Given the description of an element on the screen output the (x, y) to click on. 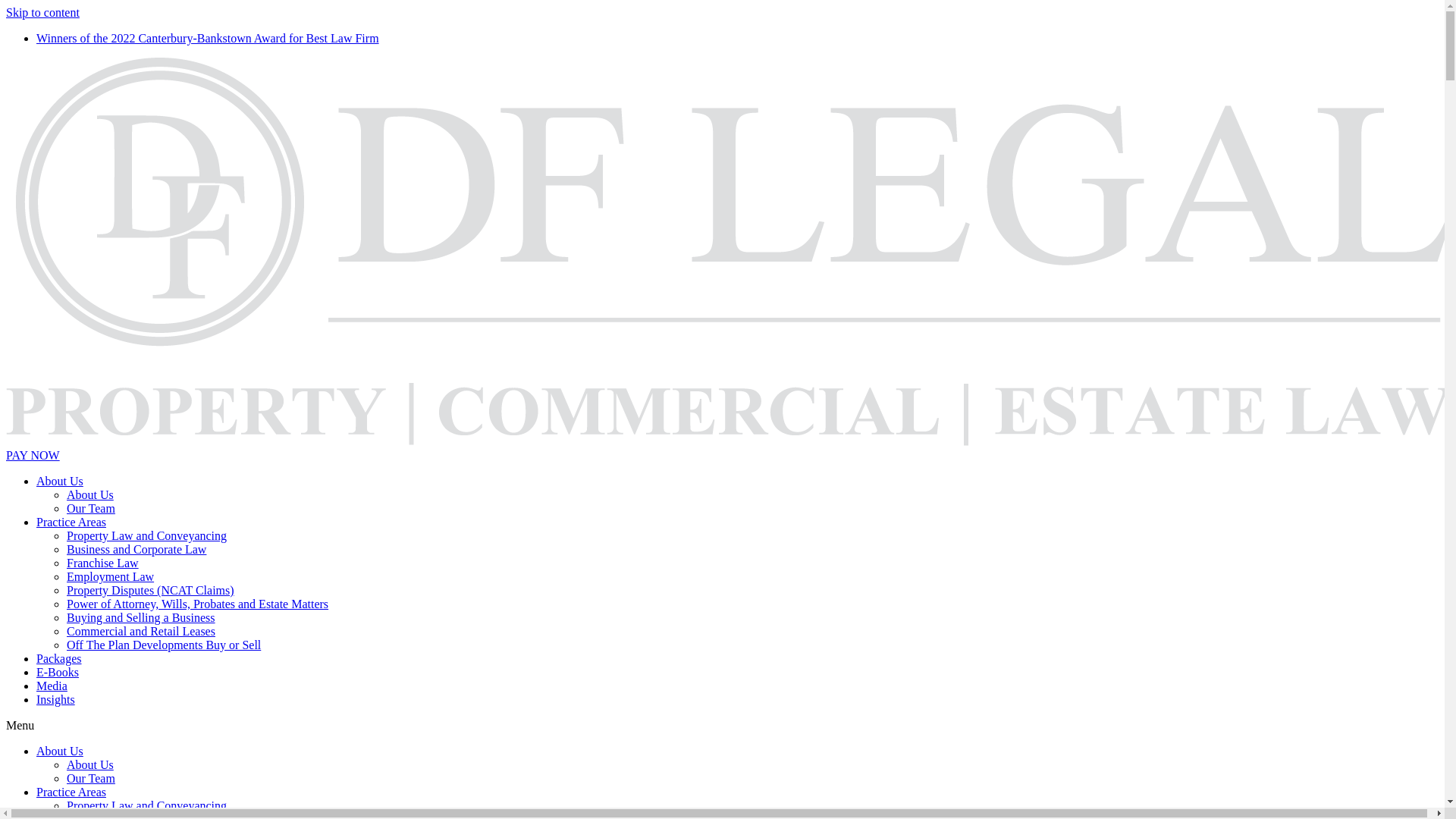
Packages Element type: text (58, 658)
Our Team Element type: text (90, 508)
E-Books Element type: text (57, 671)
Skip to content Element type: text (42, 12)
Business and Corporate Law Element type: text (136, 548)
Property Disputes (NCAT Claims) Element type: text (150, 589)
About Us Element type: text (89, 494)
Commercial and Retail Leases Element type: text (140, 630)
About Us Element type: text (89, 764)
Employment Law Element type: text (109, 576)
Franchise Law Element type: text (102, 562)
Property Law and Conveyancing Element type: text (146, 535)
About Us Element type: text (59, 480)
Practice Areas Element type: text (71, 521)
Our Team Element type: text (90, 777)
Buying and Selling a Business Element type: text (140, 617)
Off The Plan Developments Buy or Sell Element type: text (163, 644)
PAY NOW Element type: text (32, 454)
Practice Areas Element type: text (71, 791)
About Us Element type: text (59, 750)
Power of Attorney, Wills, Probates and Estate Matters Element type: text (197, 603)
Insights Element type: text (55, 699)
Property Law and Conveyancing Element type: text (146, 805)
Media Element type: text (51, 685)
DF Legal Element type: hover (728, 251)
